Given the description of an element on the screen output the (x, y) to click on. 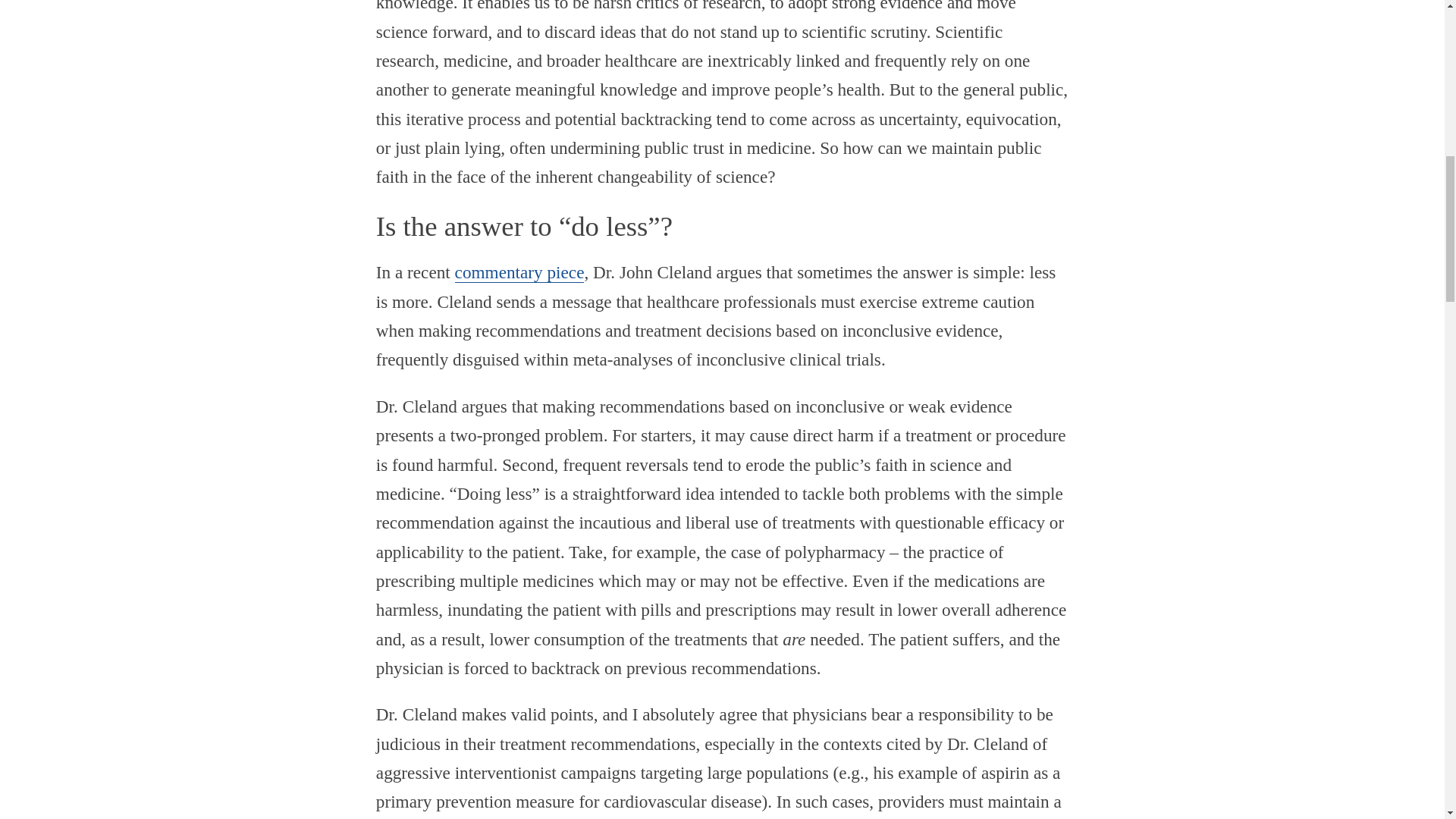
commentary piece (519, 272)
